Given the description of an element on the screen output the (x, y) to click on. 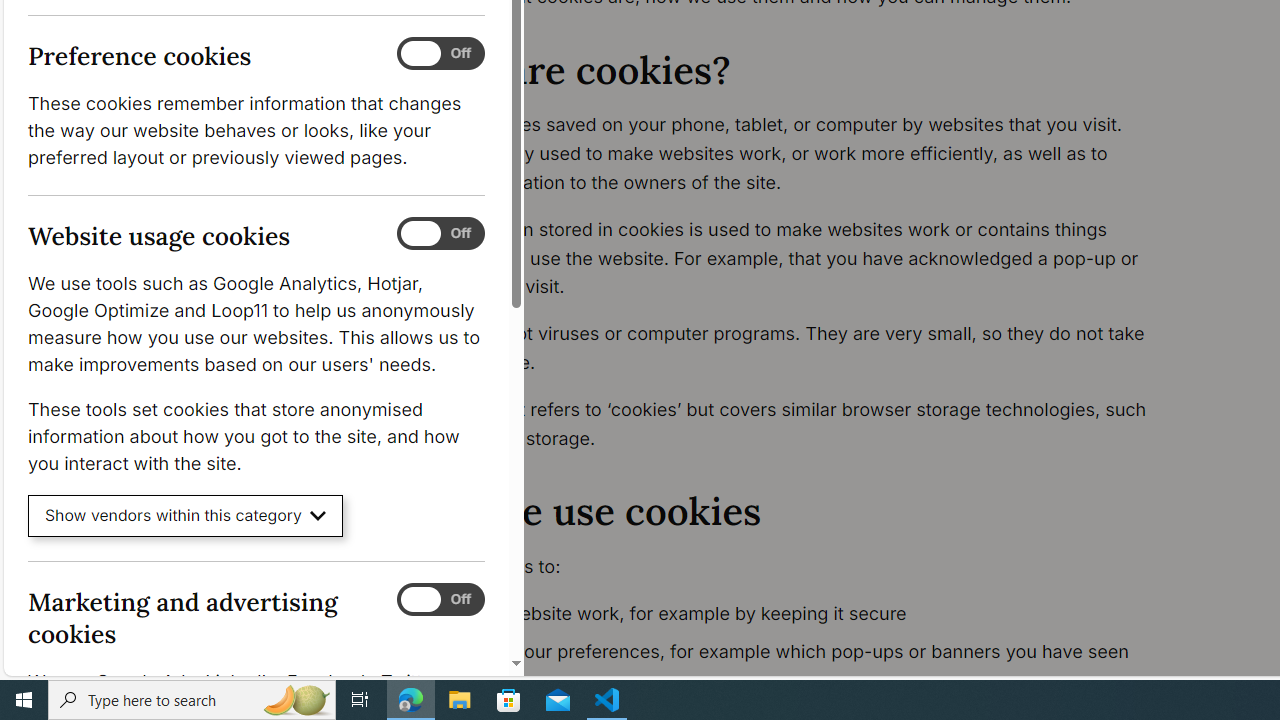
Website usage cookies (440, 233)
Marketing and advertising cookies (440, 599)
make our website work, for example by keeping it secure (796, 614)
Preference cookies (440, 53)
Show vendors within this category (185, 516)
